Given the description of an element on the screen output the (x, y) to click on. 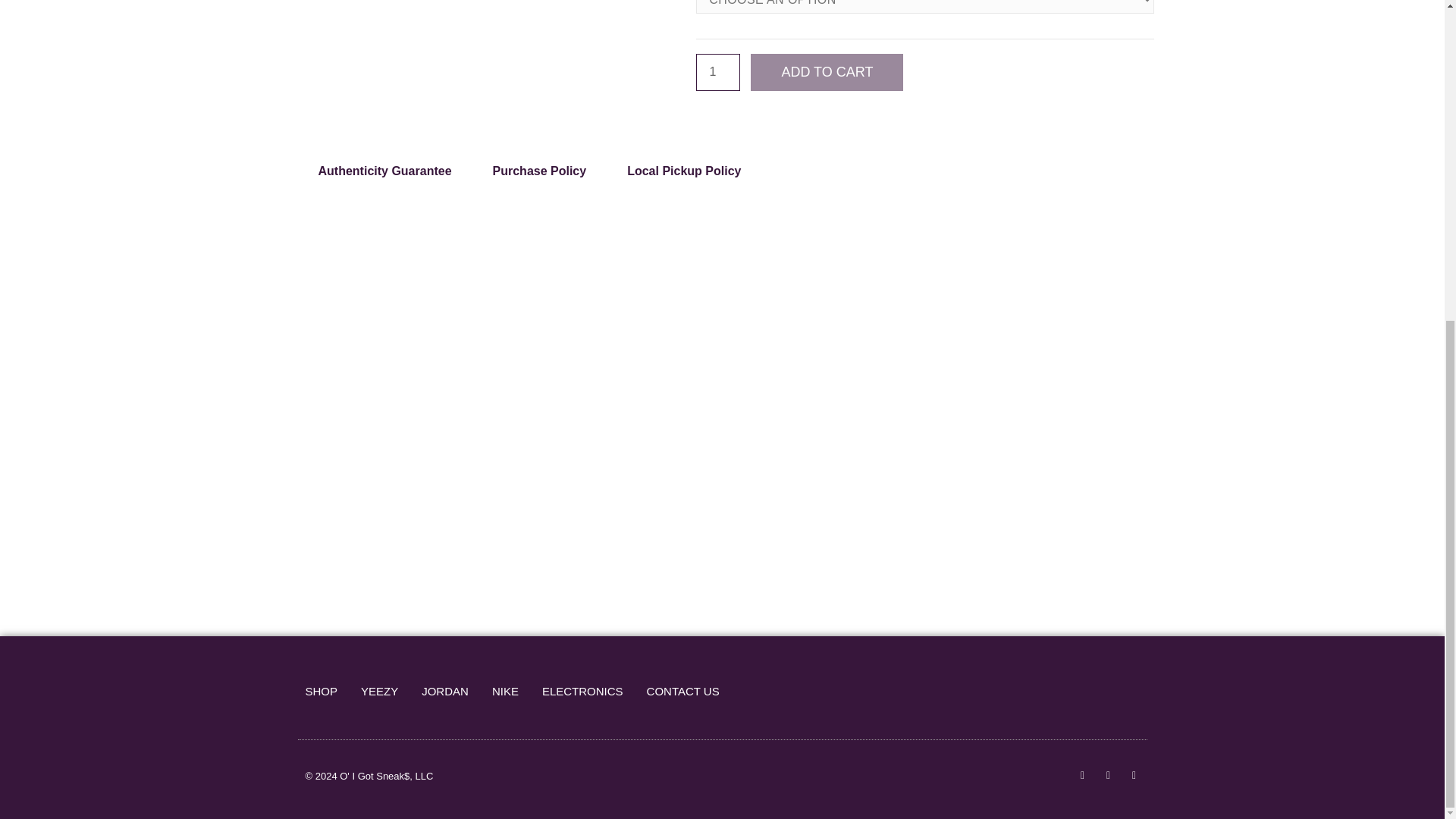
JORDAN (445, 691)
YEEZY (379, 691)
1 (717, 72)
ADD TO CART (829, 72)
NIKE (505, 691)
Qty (717, 72)
CONTACT US (682, 691)
SHOP (320, 691)
ELECTRONICS (582, 691)
